Given the description of an element on the screen output the (x, y) to click on. 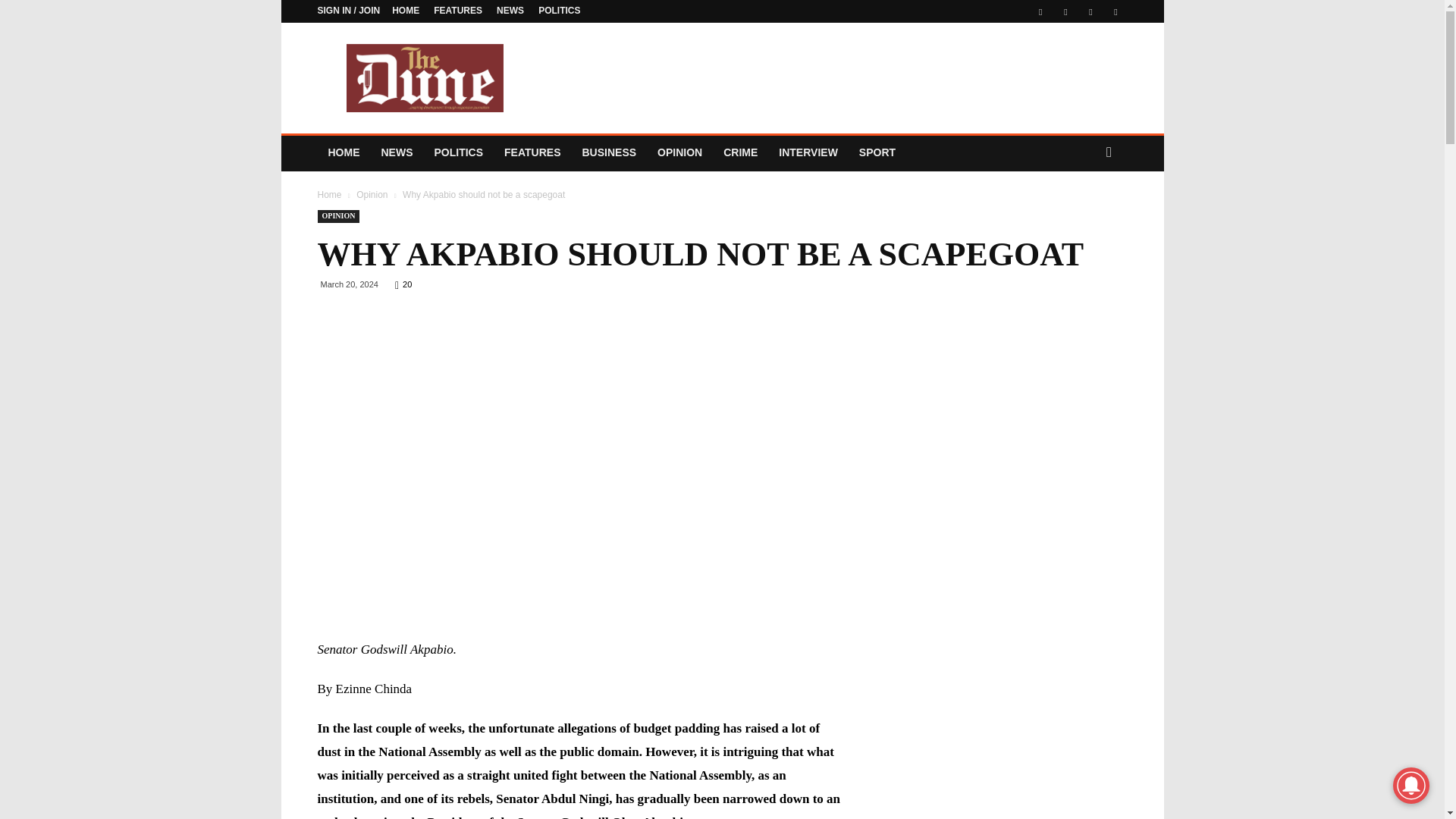
NEWS (510, 9)
HOME (405, 9)
FEATURES (457, 9)
View all posts in Opinion (371, 194)
Twitter (1065, 11)
HOME (343, 152)
POLITICS (558, 9)
FEATURES (531, 152)
VKontakte (1090, 11)
NEWS (396, 152)
POLITICS (458, 152)
Facebook (1040, 11)
Youtube (1114, 11)
